Given the description of an element on the screen output the (x, y) to click on. 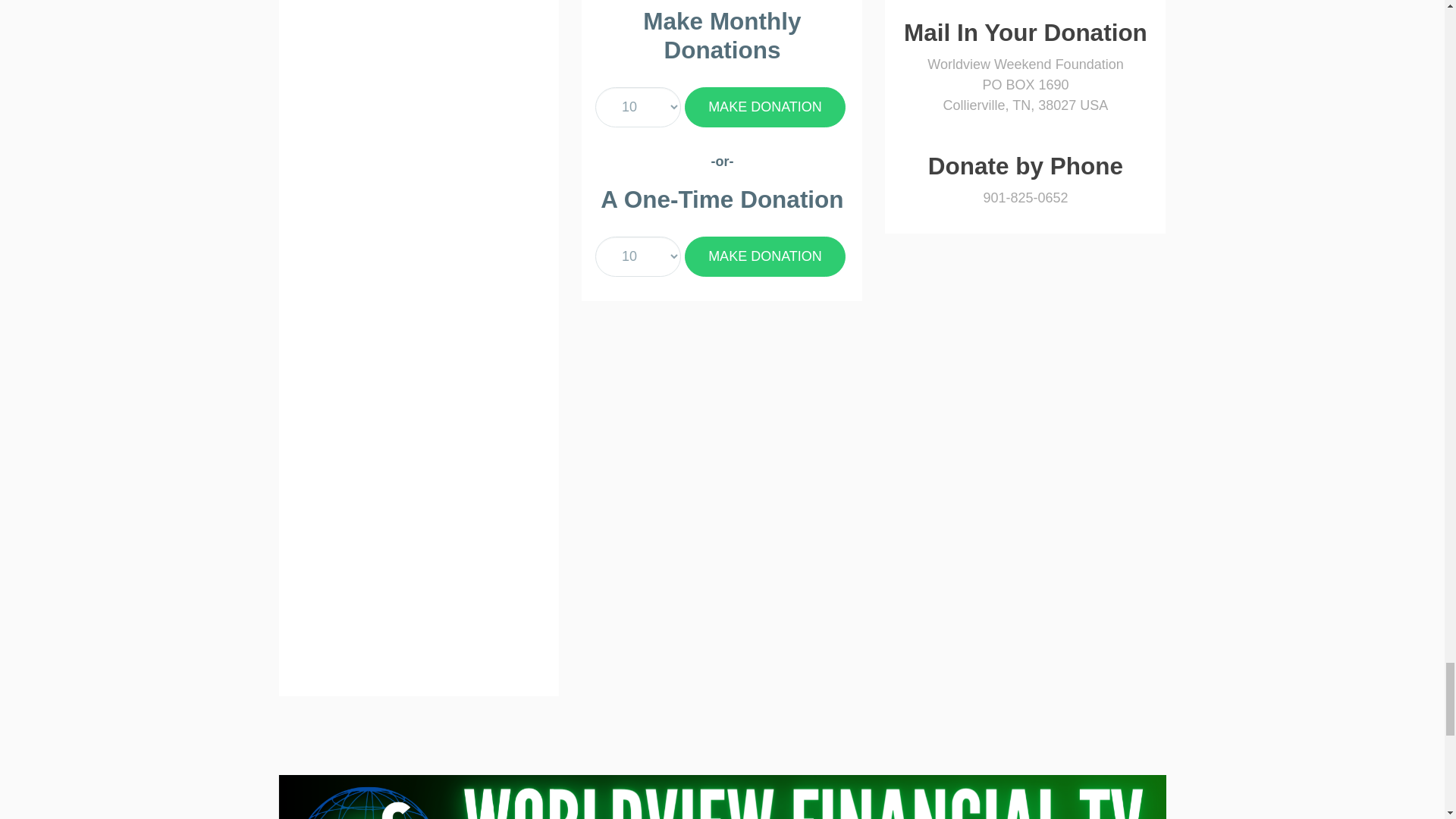
Make donation (764, 106)
Make donation (764, 256)
